Given the description of an element on the screen output the (x, y) to click on. 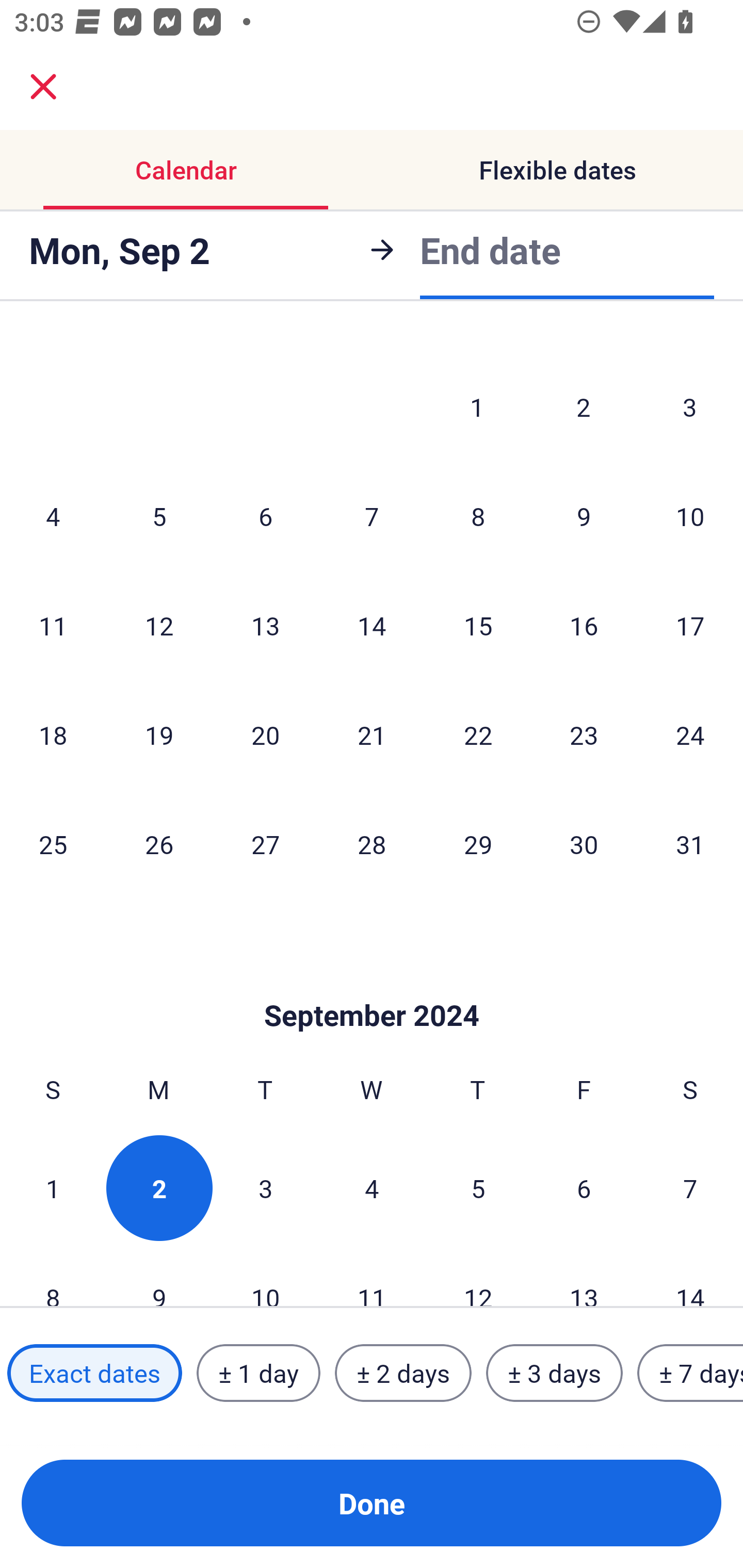
close. (43, 86)
Flexible dates (557, 170)
End date (489, 249)
1 Thursday, August 1, 2024 (477, 406)
2 Friday, August 2, 2024 (583, 406)
3 Saturday, August 3, 2024 (689, 406)
4 Sunday, August 4, 2024 (53, 515)
5 Monday, August 5, 2024 (159, 515)
6 Tuesday, August 6, 2024 (265, 515)
7 Wednesday, August 7, 2024 (371, 515)
8 Thursday, August 8, 2024 (477, 515)
9 Friday, August 9, 2024 (584, 515)
10 Saturday, August 10, 2024 (690, 515)
11 Sunday, August 11, 2024 (53, 625)
12 Monday, August 12, 2024 (159, 625)
13 Tuesday, August 13, 2024 (265, 625)
14 Wednesday, August 14, 2024 (371, 625)
15 Thursday, August 15, 2024 (477, 625)
16 Friday, August 16, 2024 (584, 625)
17 Saturday, August 17, 2024 (690, 625)
18 Sunday, August 18, 2024 (53, 734)
19 Monday, August 19, 2024 (159, 734)
20 Tuesday, August 20, 2024 (265, 734)
21 Wednesday, August 21, 2024 (371, 734)
22 Thursday, August 22, 2024 (477, 734)
23 Friday, August 23, 2024 (584, 734)
24 Saturday, August 24, 2024 (690, 734)
25 Sunday, August 25, 2024 (53, 843)
26 Monday, August 26, 2024 (159, 843)
27 Tuesday, August 27, 2024 (265, 843)
28 Wednesday, August 28, 2024 (371, 843)
29 Thursday, August 29, 2024 (477, 843)
30 Friday, August 30, 2024 (584, 843)
31 Saturday, August 31, 2024 (690, 843)
Skip to Done (371, 984)
1 Sunday, September 1, 2024 (53, 1187)
3 Tuesday, September 3, 2024 (265, 1187)
4 Wednesday, September 4, 2024 (371, 1187)
5 Thursday, September 5, 2024 (477, 1187)
6 Friday, September 6, 2024 (584, 1187)
7 Saturday, September 7, 2024 (690, 1187)
8 Sunday, September 8, 2024 (53, 1275)
9 Monday, September 9, 2024 (159, 1275)
10 Tuesday, September 10, 2024 (265, 1275)
11 Wednesday, September 11, 2024 (371, 1275)
12 Thursday, September 12, 2024 (477, 1275)
13 Friday, September 13, 2024 (584, 1275)
14 Saturday, September 14, 2024 (690, 1275)
Exact dates (94, 1372)
± 1 day (258, 1372)
± 2 days (403, 1372)
± 3 days (553, 1372)
± 7 days (690, 1372)
Done (371, 1502)
